Given the description of an element on the screen output the (x, y) to click on. 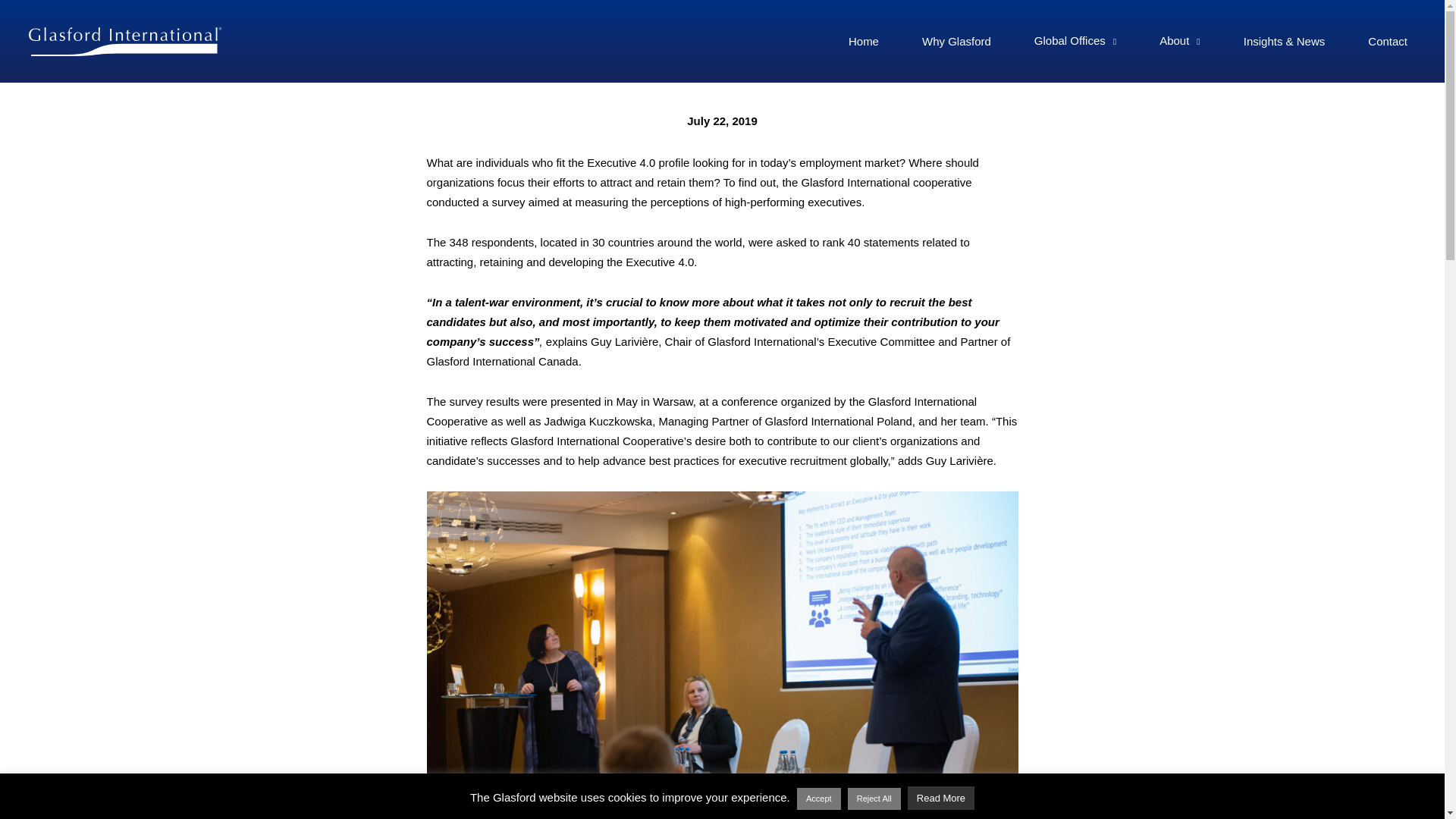
Global Offices (1074, 40)
Why Glasford (956, 41)
About (1178, 40)
Home (863, 41)
